Given the description of an element on the screen output the (x, y) to click on. 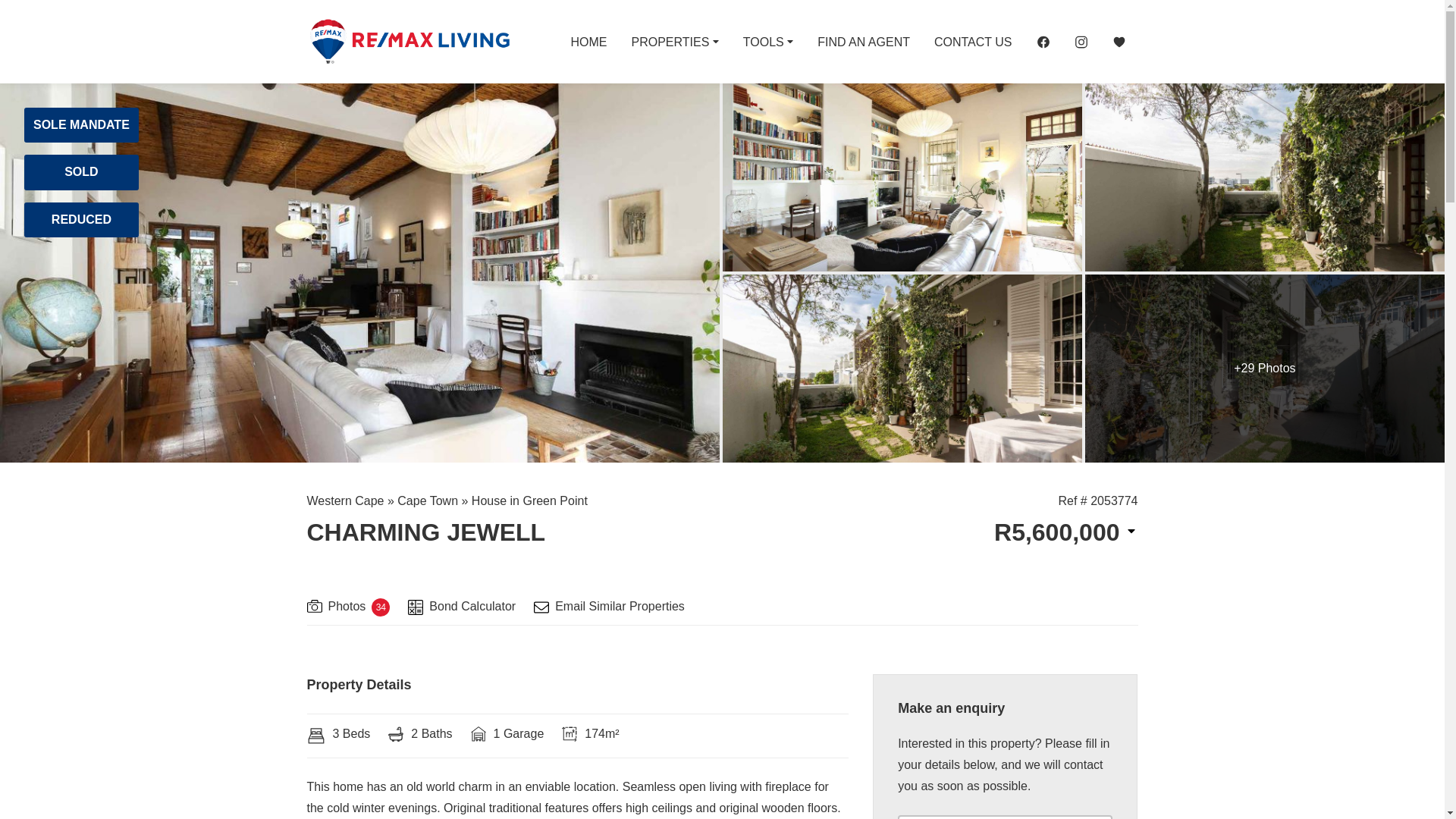
Email Similar Properties (609, 608)
Currency converter (1065, 532)
Property for sale and to rent Cape Town (408, 41)
FACEBOOK (1042, 41)
CONTACT US (973, 41)
Favourites (1118, 41)
Western Cape (344, 501)
FIND AN AGENT (863, 41)
House in Green Point (529, 501)
FAVOURITES (1118, 41)
Instagram (1080, 41)
HOME (587, 41)
Cape Town (427, 501)
Bond Calculator (461, 608)
INSTAGRAM (1080, 41)
